Given the description of an element on the screen output the (x, y) to click on. 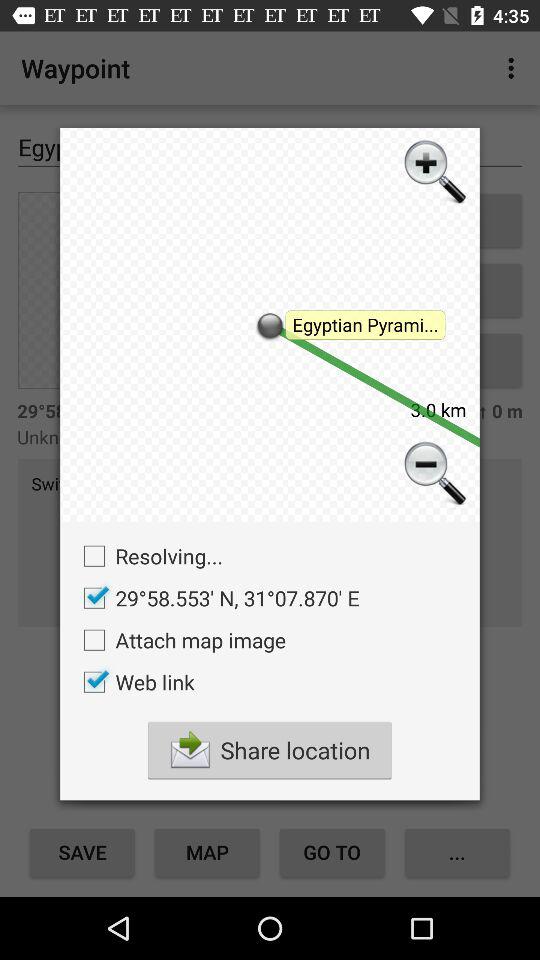
swipe to the resolving... (148, 556)
